Given the description of an element on the screen output the (x, y) to click on. 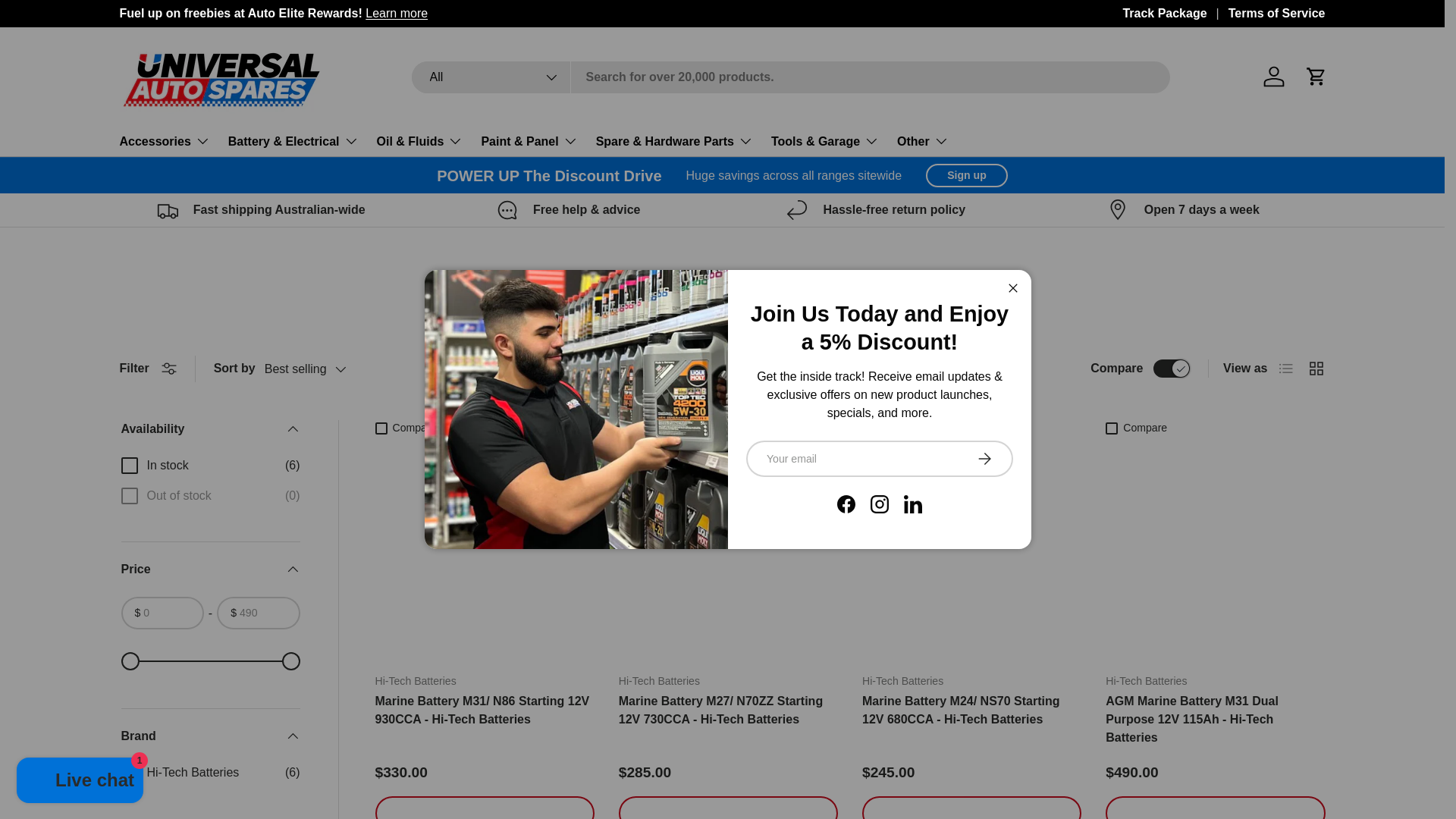
Universal Auto Spares on Instagram (879, 503)
0 (210, 660)
Log in (1273, 76)
Auto Elite Rewards (396, 12)
Track Package (1174, 13)
Shopify online store chat (79, 781)
Gift Cards (1288, 12)
All (490, 76)
Terms of Service (1276, 13)
Cart (1316, 76)
Learn more (1288, 12)
Skip to content (69, 21)
Universal Auto Spares on Facebook (846, 503)
